Given the description of an element on the screen output the (x, y) to click on. 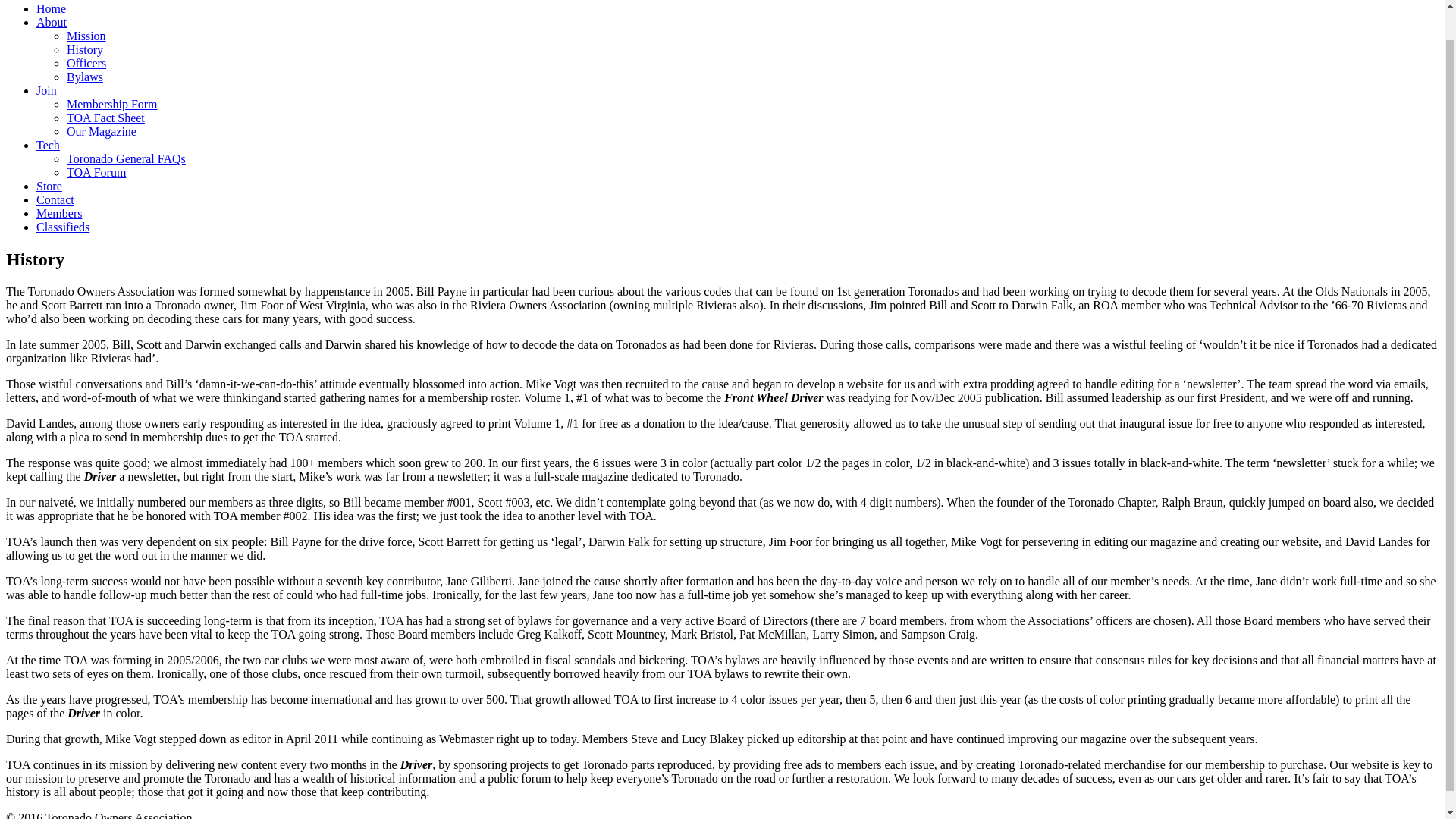
Tech (47, 144)
Join (46, 90)
Home (50, 8)
TOA Fact Sheet (105, 117)
Our Magazine (101, 131)
Store (49, 185)
About (51, 21)
TOA Forum (95, 172)
Classifieds (62, 226)
Contact (55, 199)
